Given the description of an element on the screen output the (x, y) to click on. 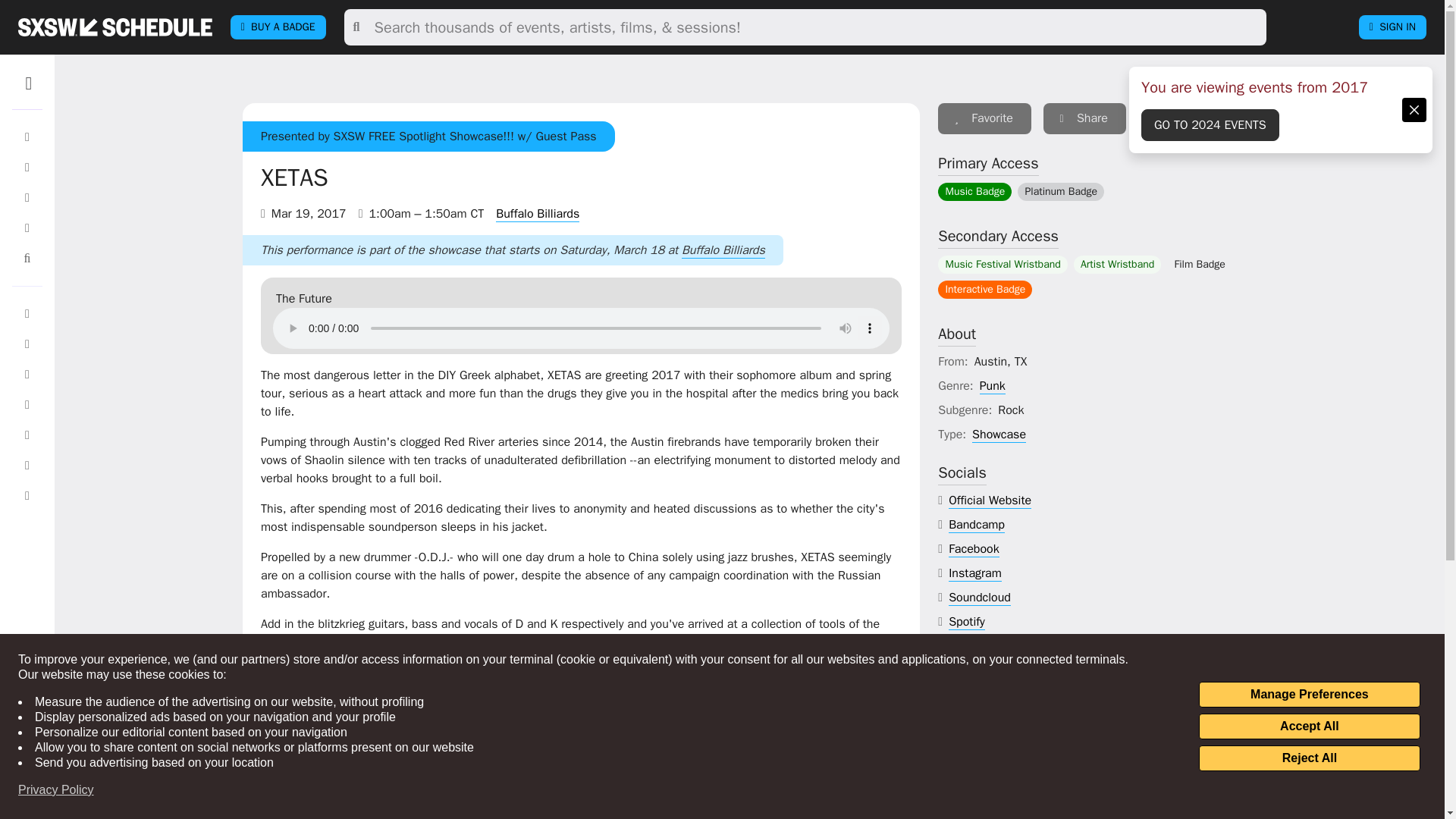
Reject All (1309, 758)
GO TO 2024 EVENTS (1210, 124)
instagram (975, 573)
Accept All (1309, 726)
soundcloud (979, 597)
Manage Preferences (1309, 694)
SIGN IN (1392, 27)
sxsw SCHEDULE (114, 27)
twitter (966, 646)
BUY A BADGE (278, 27)
facebook (973, 549)
spotify (967, 621)
Buffalo Billiards (537, 213)
website (989, 500)
youtube (970, 670)
